Given the description of an element on the screen output the (x, y) to click on. 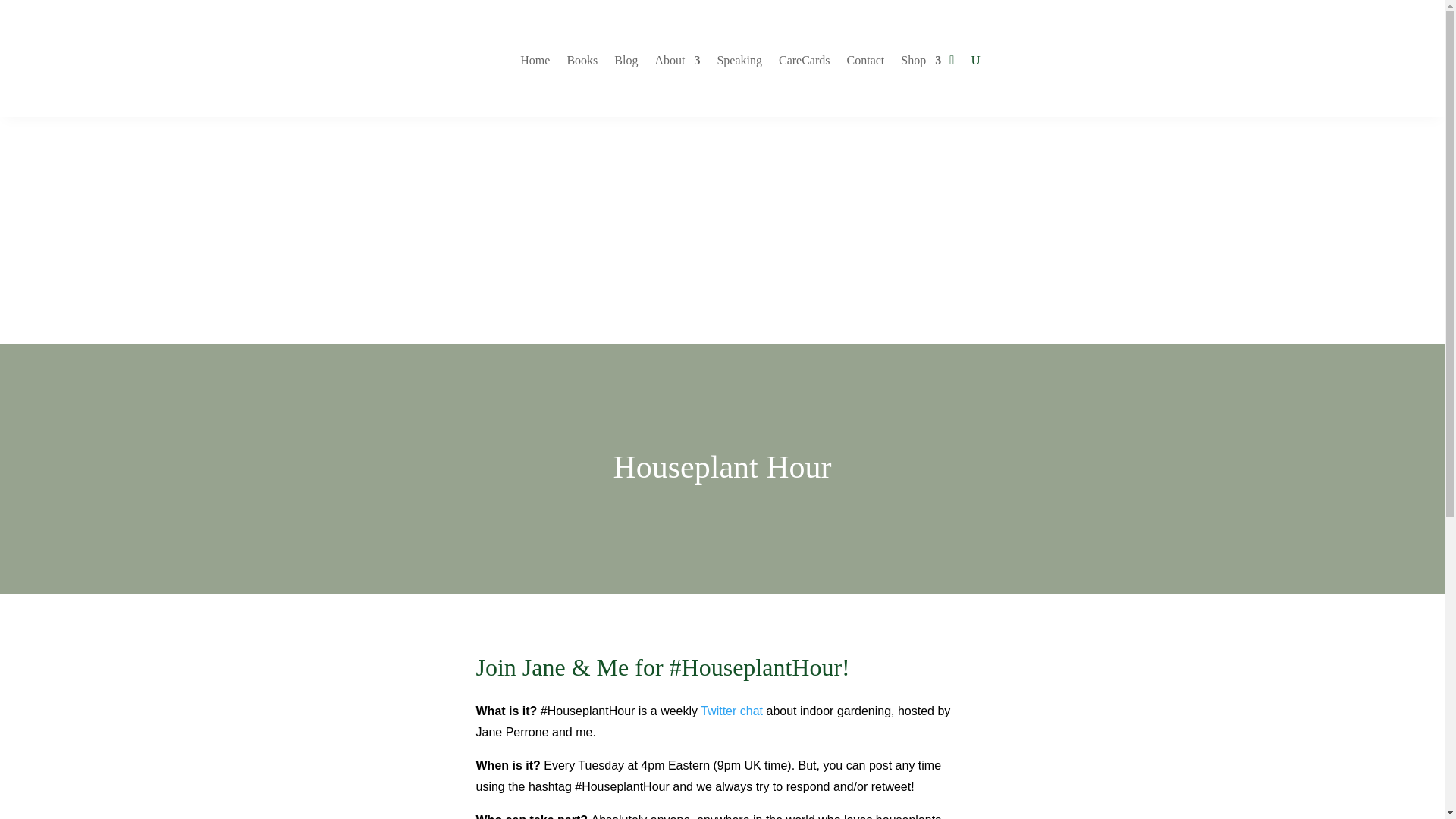
Twitter chat (731, 710)
CareCards (803, 60)
